Given the description of an element on the screen output the (x, y) to click on. 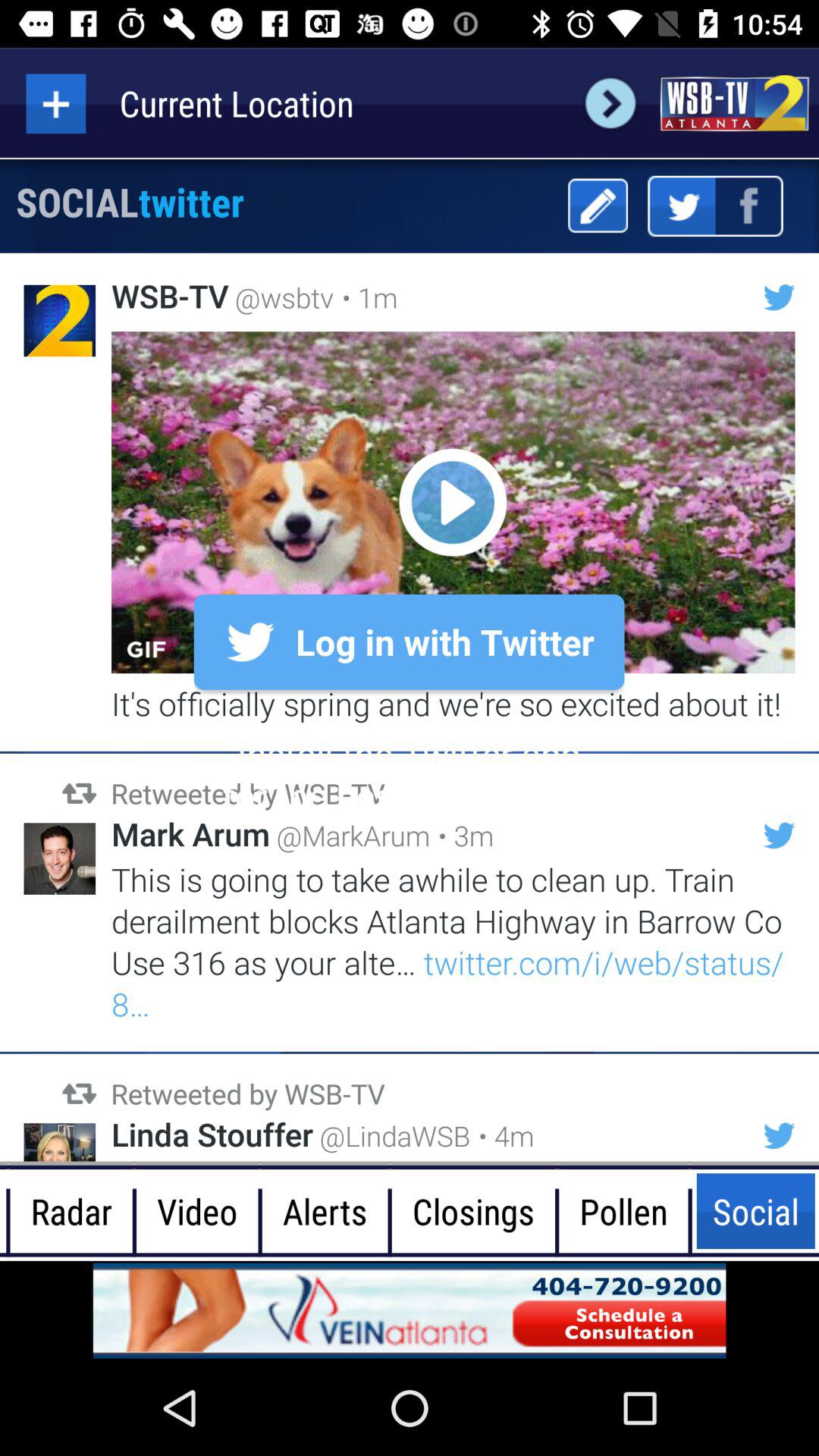
edit (597, 206)
